Given the description of an element on the screen output the (x, y) to click on. 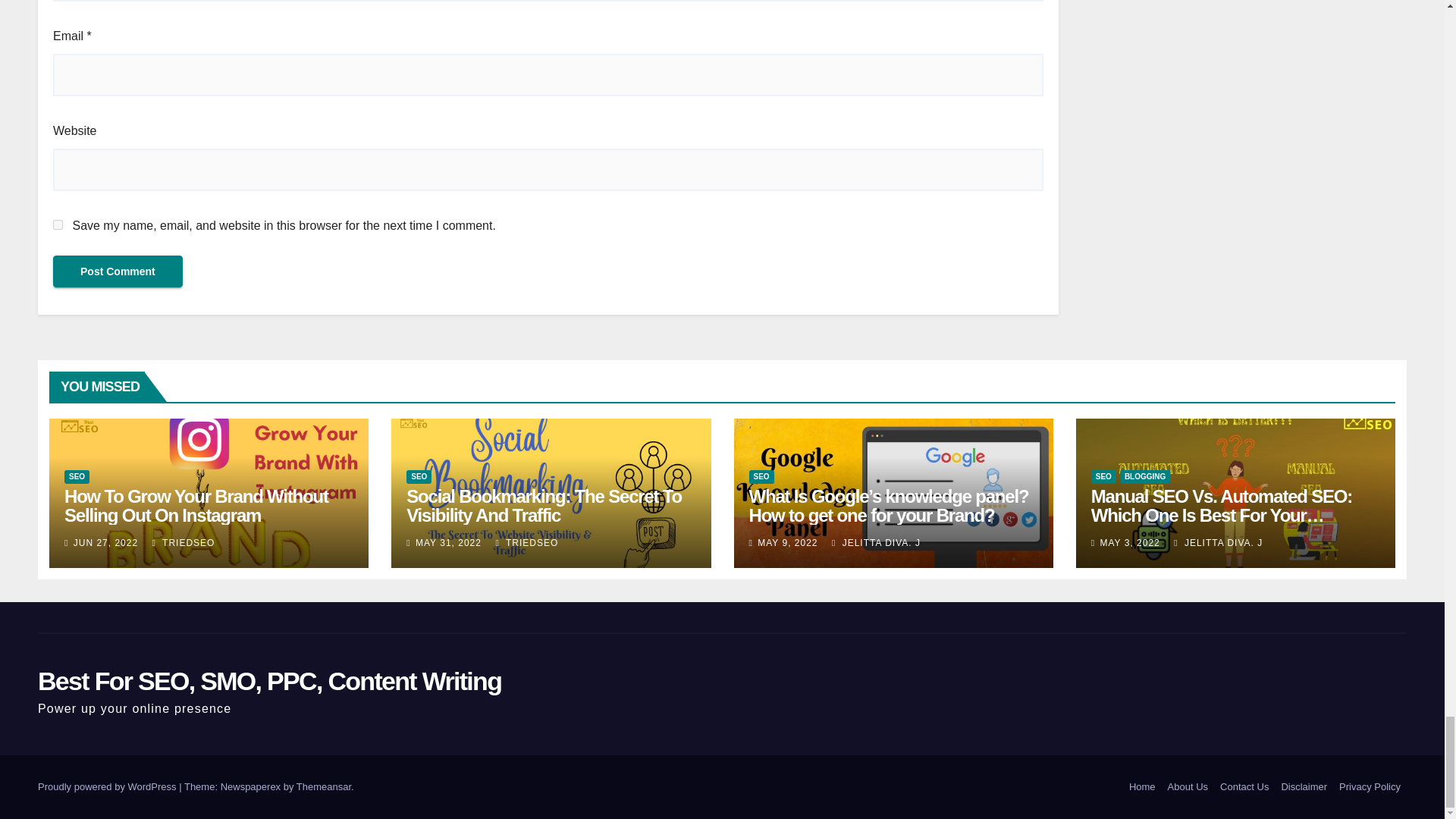
yes (57, 225)
Post Comment (117, 271)
